Given the description of an element on the screen output the (x, y) to click on. 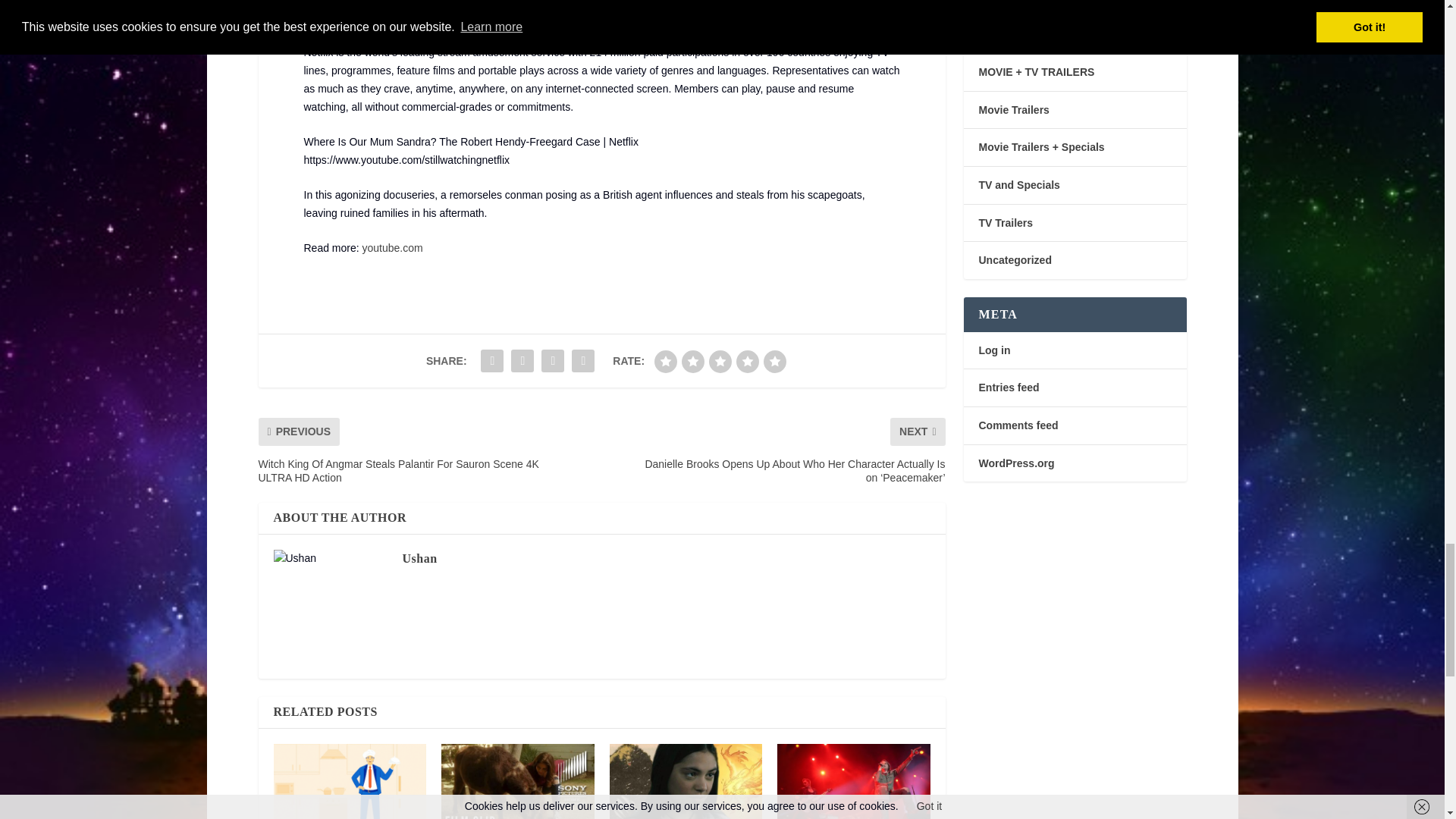
gorgeous (774, 361)
youtube.com (392, 247)
good (747, 361)
View all posts by Ushan (418, 558)
Ushan (418, 558)
regular (720, 361)
poor (692, 361)
bad (665, 361)
